Given the description of an element on the screen output the (x, y) to click on. 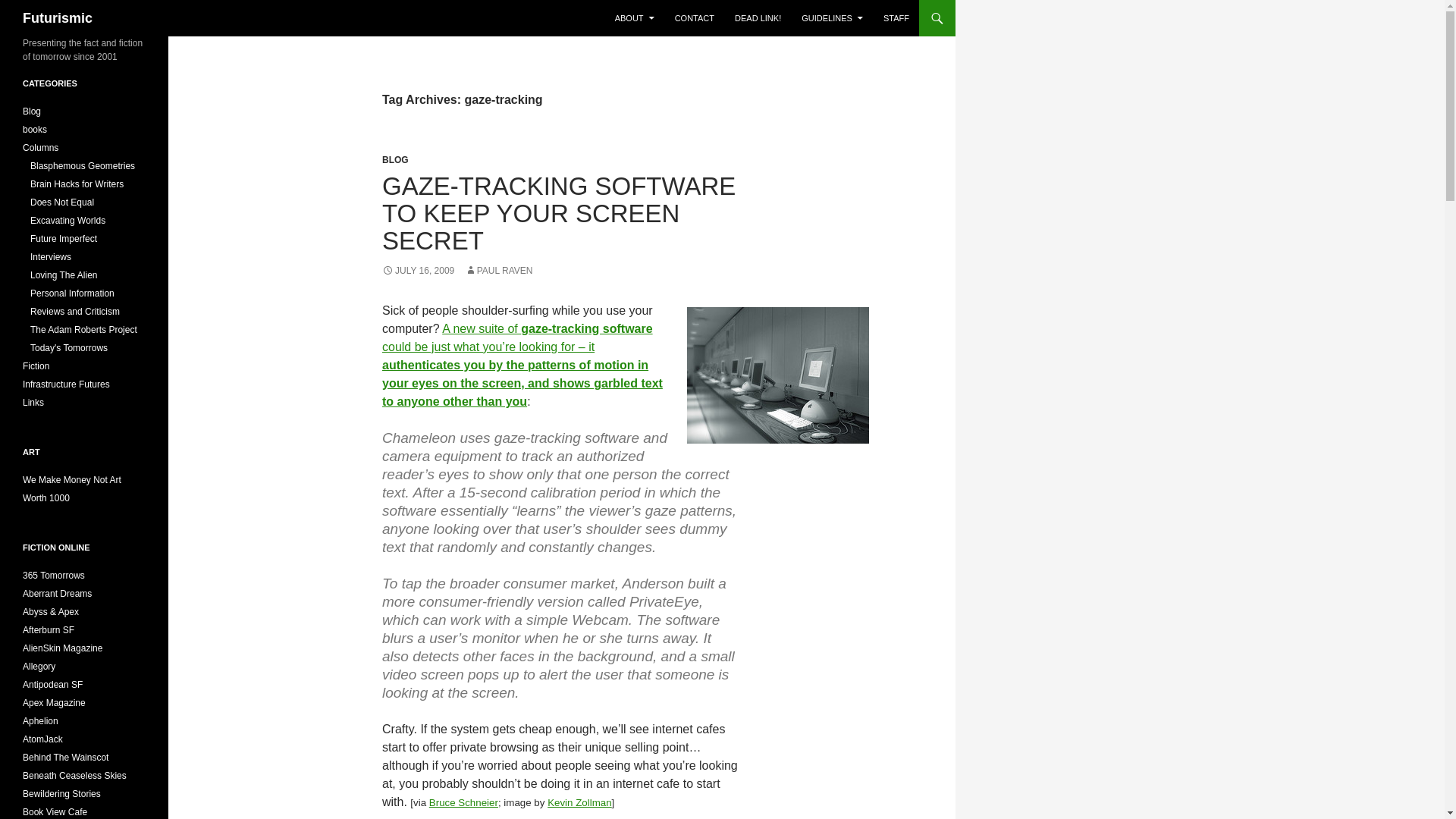
books (34, 129)
Excavating Worlds (67, 220)
Reviews and Criticism (74, 311)
DEAD LINK! (757, 18)
GAZE-TRACKING SOFTWARE TO KEEP YOUR SCREEN SECRET (558, 212)
Future Imperfect (63, 238)
Personal Information (72, 293)
CONTACT (694, 18)
Blog (31, 111)
The Adam Roberts Project (83, 329)
Does Not Equal (62, 202)
Blasphemous Geometries (82, 165)
Today's Tomorrows (68, 347)
row of computers (778, 375)
